Given the description of an element on the screen output the (x, y) to click on. 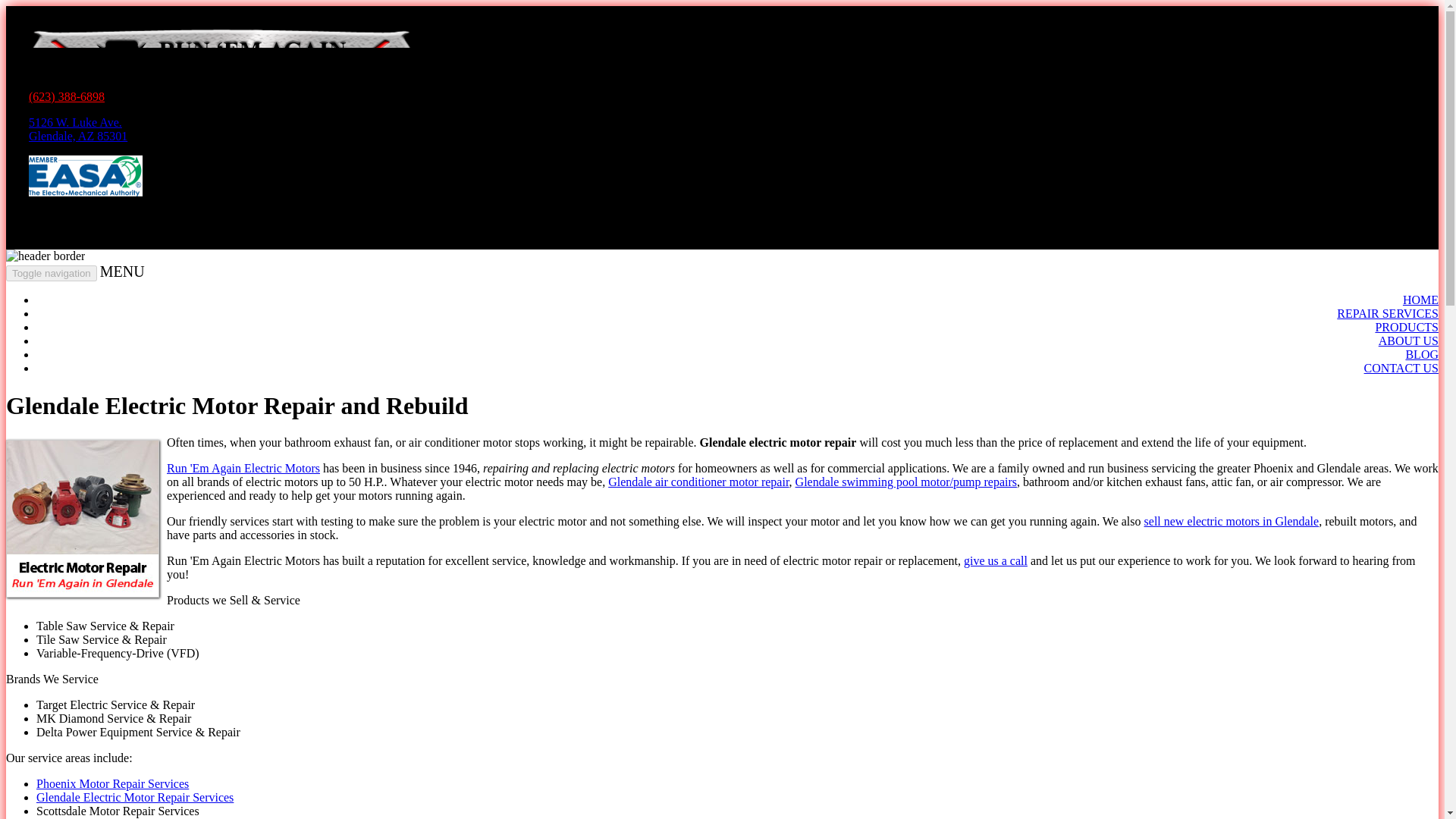
Phoenix Motor Repair Services (112, 783)
MENU (122, 271)
Run 'Em Again Electric Motors in Arizona (243, 468)
give us a call (78, 129)
Glendale air conditioner motor repair (995, 560)
Sun City Electric Motor Repairs (698, 481)
Air Conditioner Motor Repair Glendale (243, 468)
Toggle navigation (698, 481)
Seller of New Electric Motors in The City of Glendale (51, 273)
Glendale Electric Motor Repair Services (1231, 521)
sell new electric motors in Glendale (134, 797)
